Given the description of an element on the screen output the (x, y) to click on. 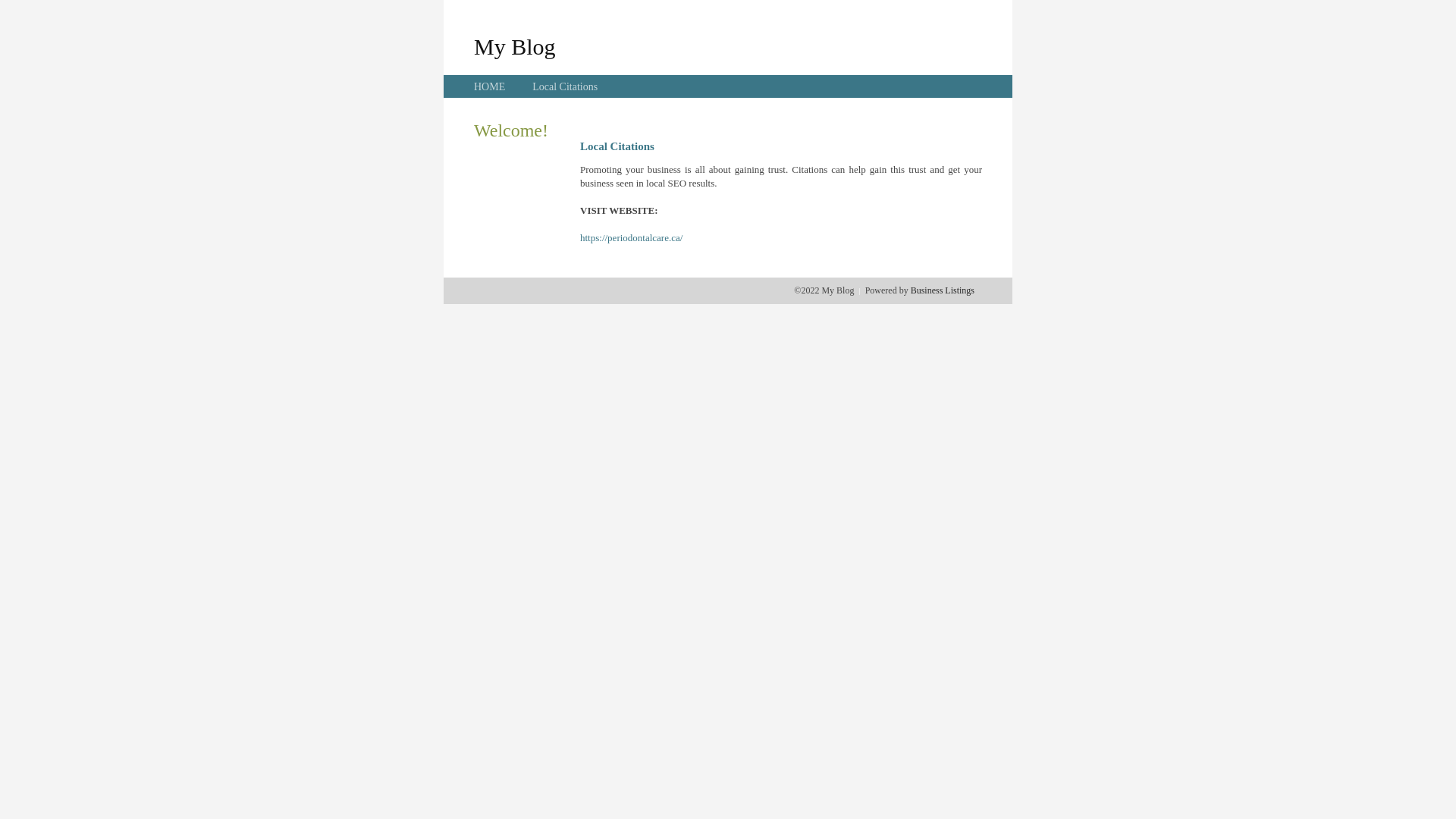
My Blog Element type: text (514, 46)
https://periodontalcare.ca/ Element type: text (631, 237)
Local Citations Element type: text (564, 86)
HOME Element type: text (489, 86)
Business Listings Element type: text (942, 290)
